Given the description of an element on the screen output the (x, y) to click on. 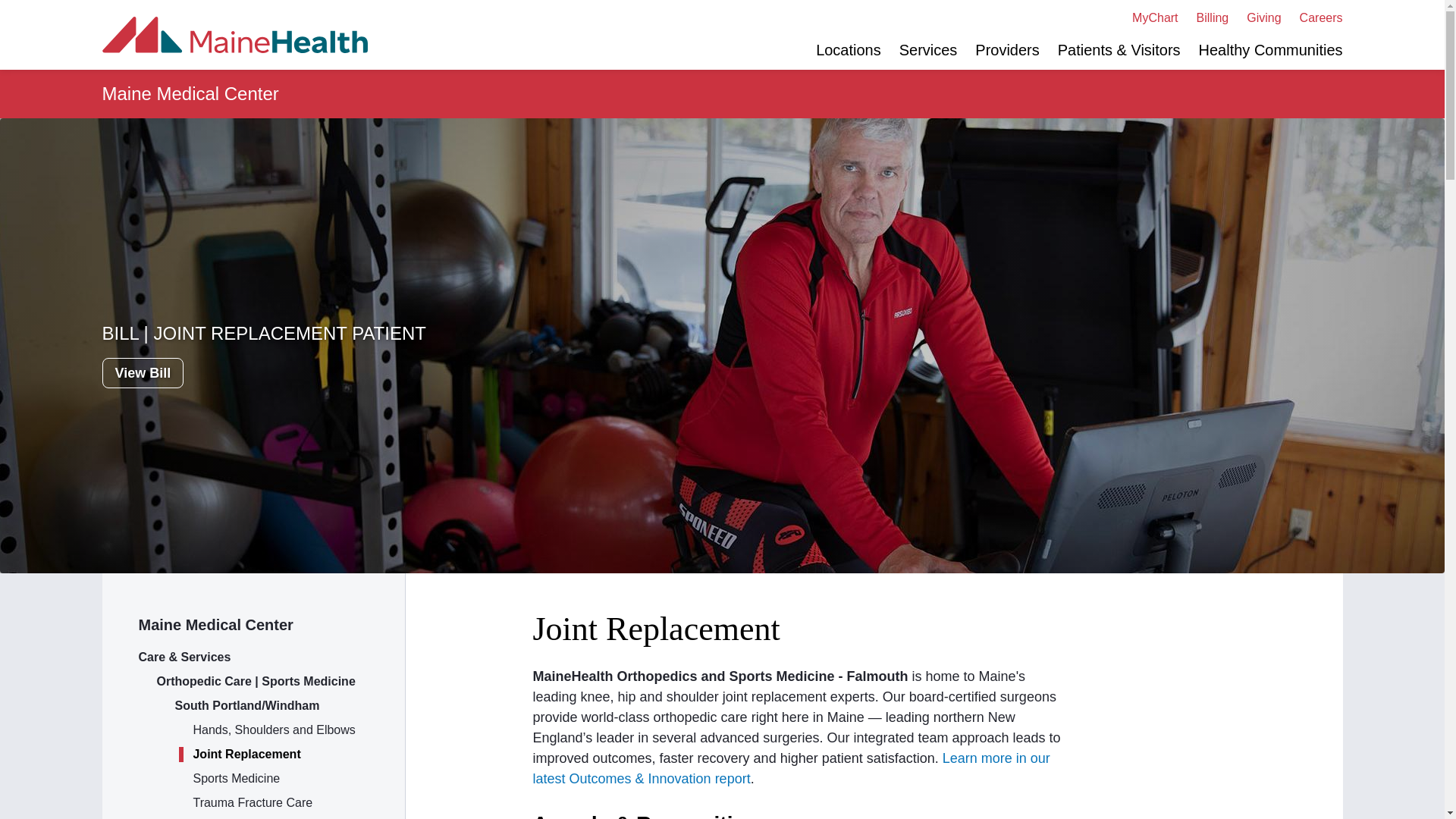
Billing (1212, 17)
Careers (1321, 17)
Providers (1007, 49)
Maine Medical Center (253, 624)
OPEN SEARCH (762, 34)
Giving (1263, 17)
Locations (847, 49)
Services (928, 49)
MyChart (1154, 17)
